Given the description of an element on the screen output the (x, y) to click on. 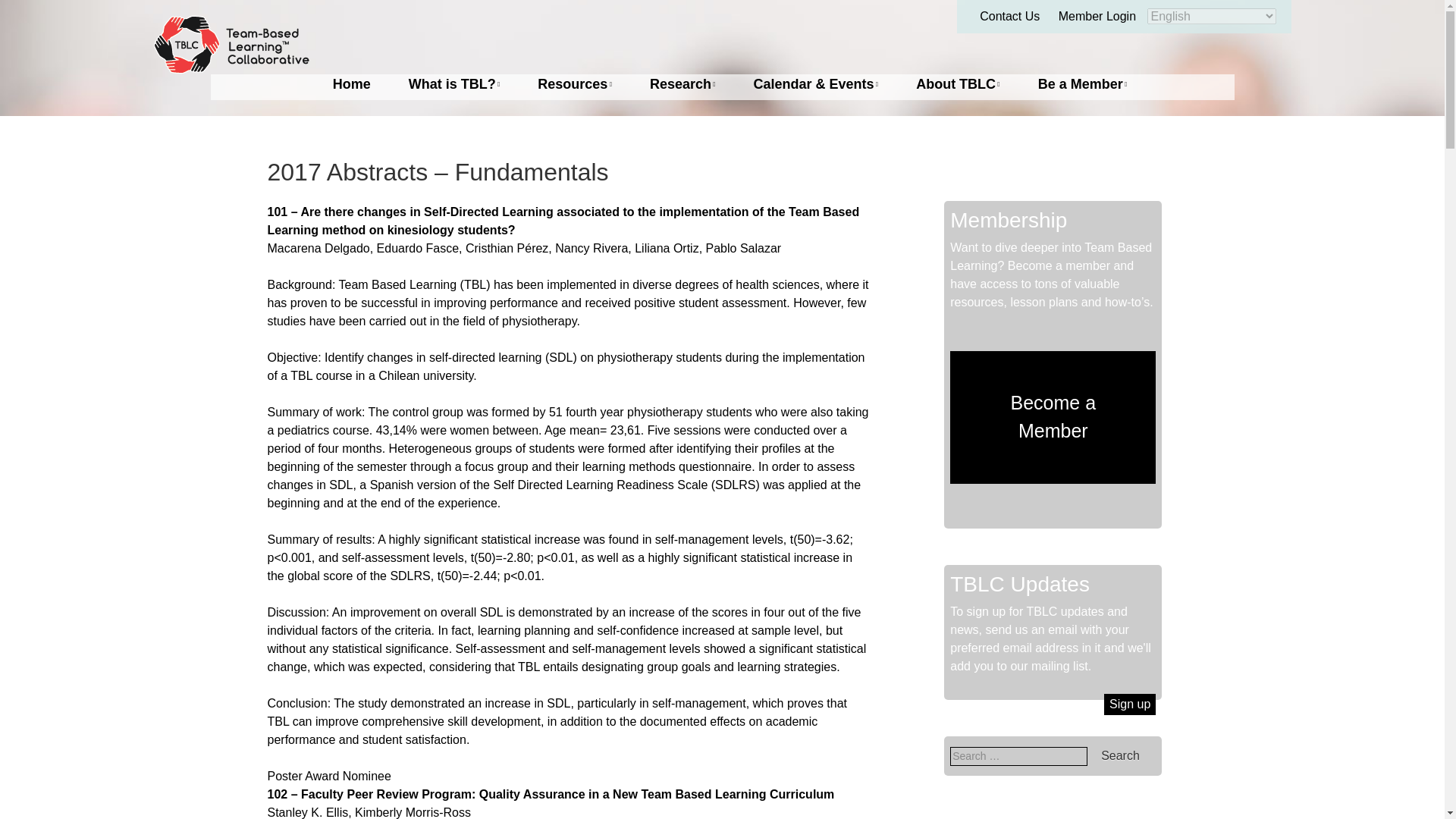
Contact Us (1009, 15)
Search (1120, 755)
Team-Based Learning Collaborative (230, 46)
Research (682, 84)
Search (1120, 755)
Home (352, 84)
Resources (574, 84)
Member Login (1096, 15)
What is TBL? (454, 84)
About TBLC (957, 84)
